Given the description of an element on the screen output the (x, y) to click on. 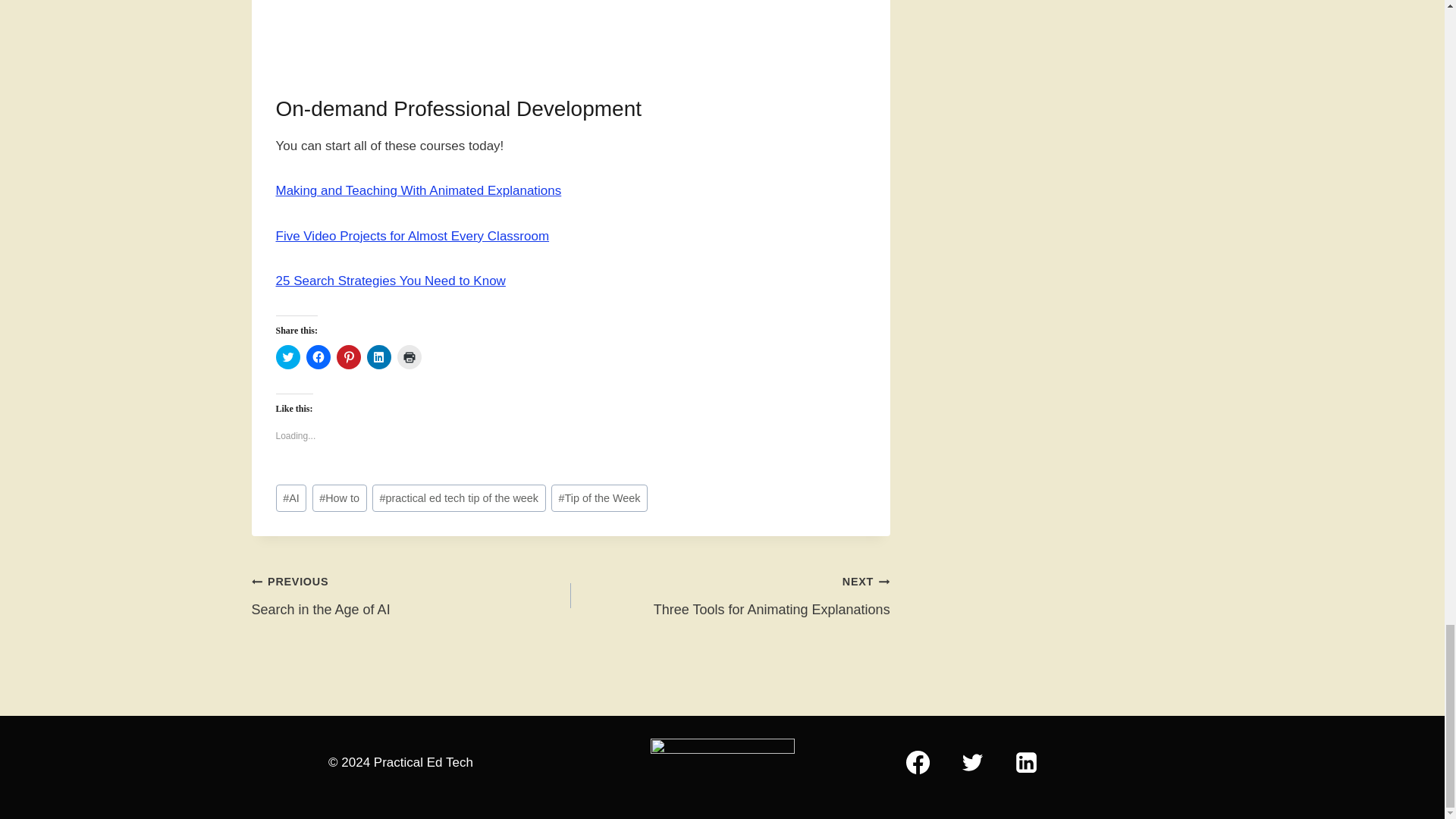
AI (291, 498)
AI Tutorials (571, 31)
Click to share on Pinterest (348, 356)
Click to print (409, 356)
Making and Teaching With Animated Explanations (419, 190)
Tip of the Week (599, 498)
Click to share on LinkedIn (729, 595)
How to (378, 356)
